Given the description of an element on the screen output the (x, y) to click on. 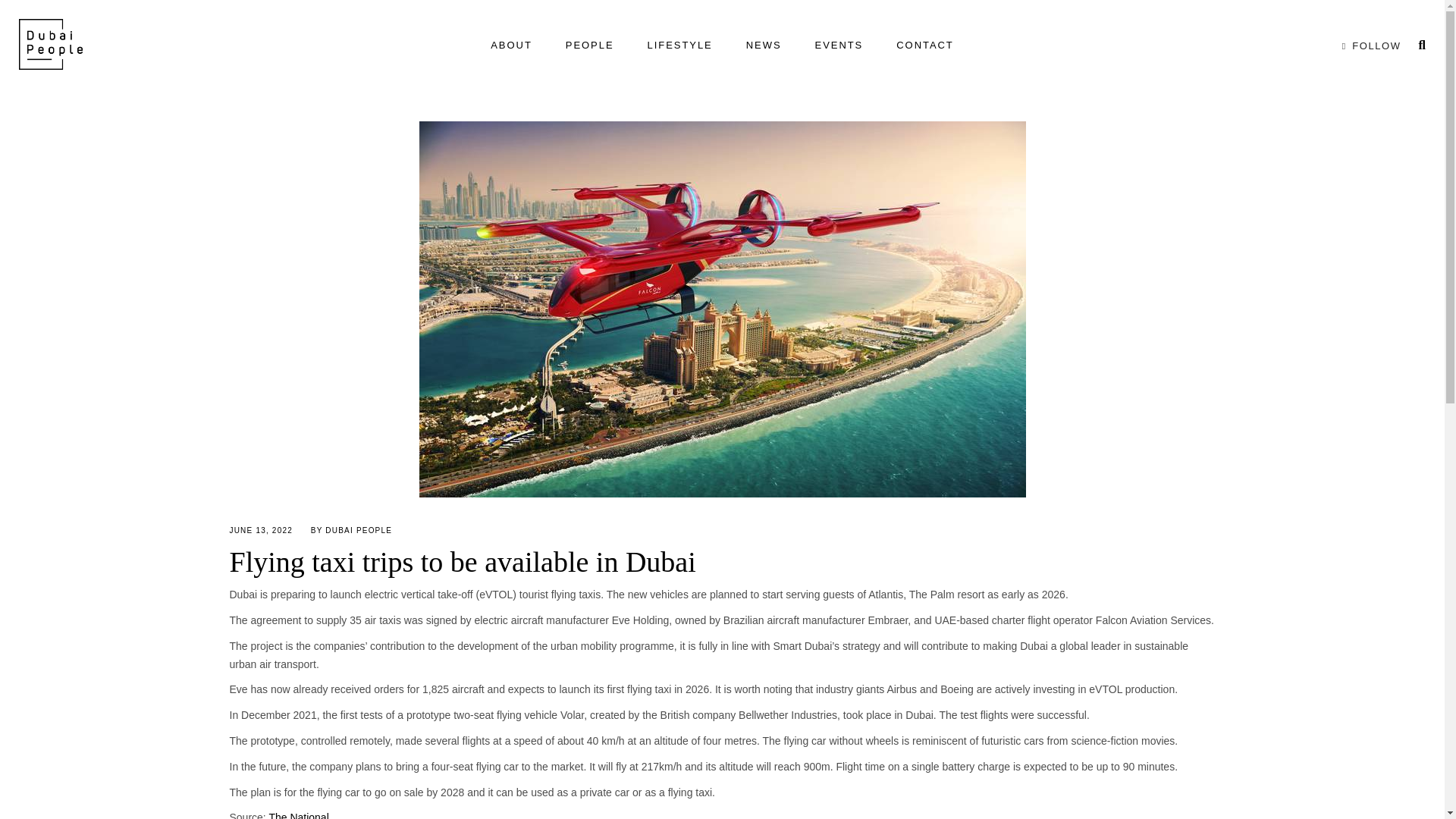
FOLLOW (1368, 45)
ABOUT (511, 45)
LIFESTYLE (679, 45)
DUBAI PEOPLE (357, 530)
CONTACT (925, 45)
JUNE 13, 2022 (260, 530)
The National (298, 815)
PEOPLE (589, 45)
EVENTS (838, 45)
NEWS (763, 45)
